Given the description of an element on the screen output the (x, y) to click on. 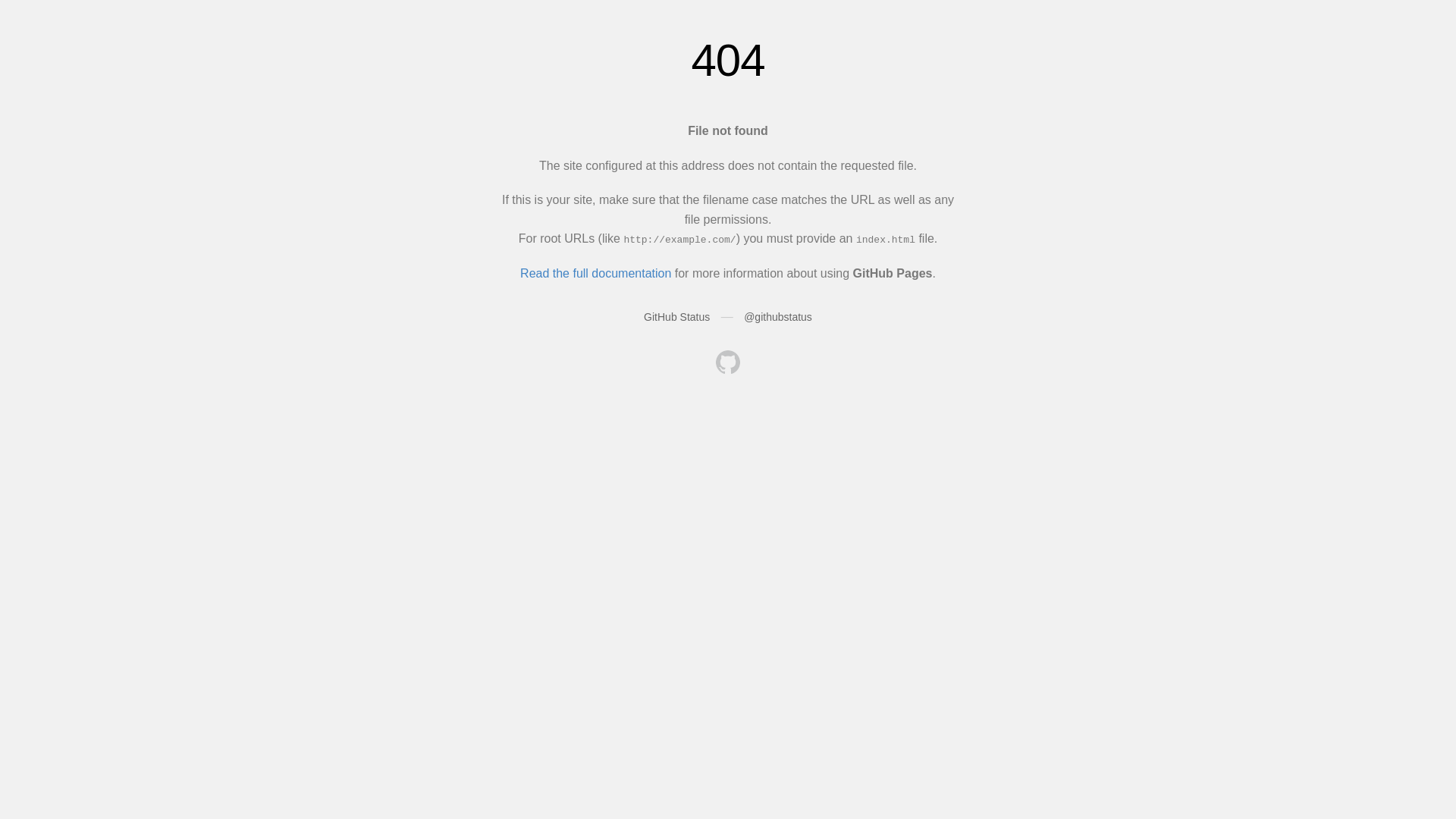
@githubstatus Element type: text (777, 316)
Read the full documentation Element type: text (595, 272)
GitHub Status Element type: text (676, 316)
